Given the description of an element on the screen output the (x, y) to click on. 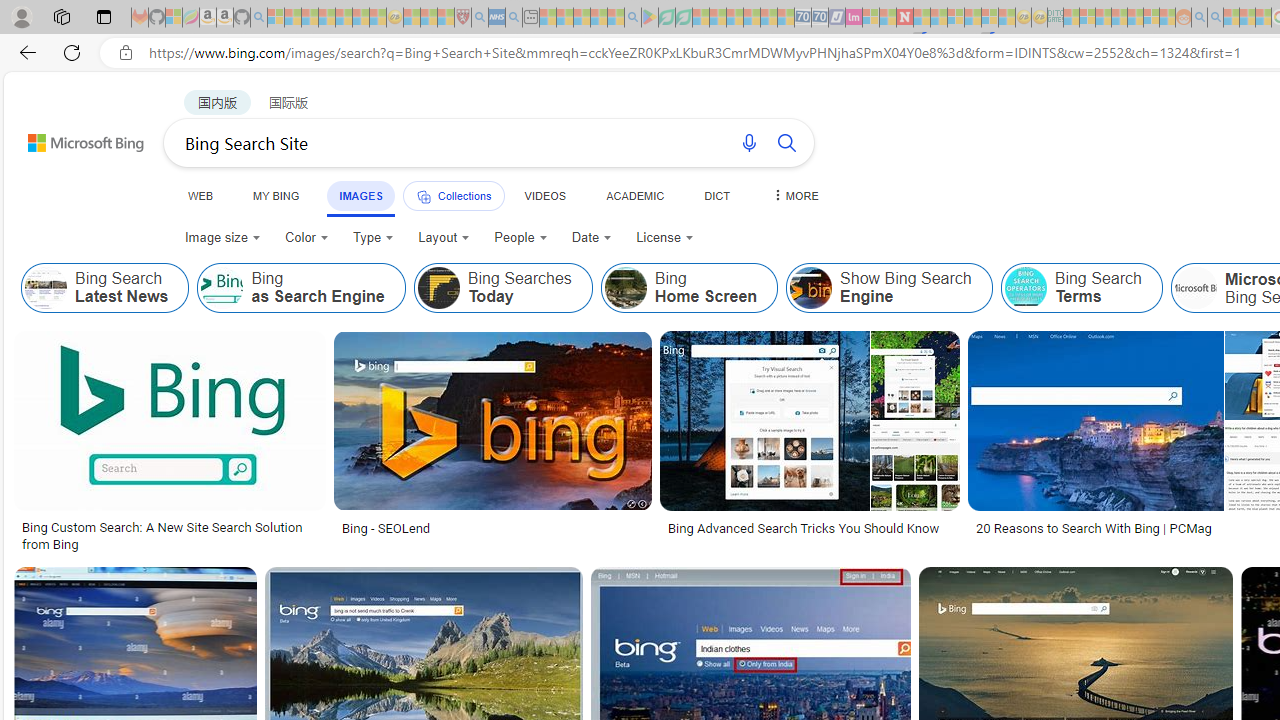
Bing - SEOLend (492, 528)
Bing Home Screen (625, 287)
Bing Searches Today (502, 287)
ACADEMIC (635, 195)
Show Bing Search Engine (811, 287)
Back to Bing search (73, 138)
Bing Advanced Search Tricks You Should Know (803, 528)
